Given the description of an element on the screen output the (x, y) to click on. 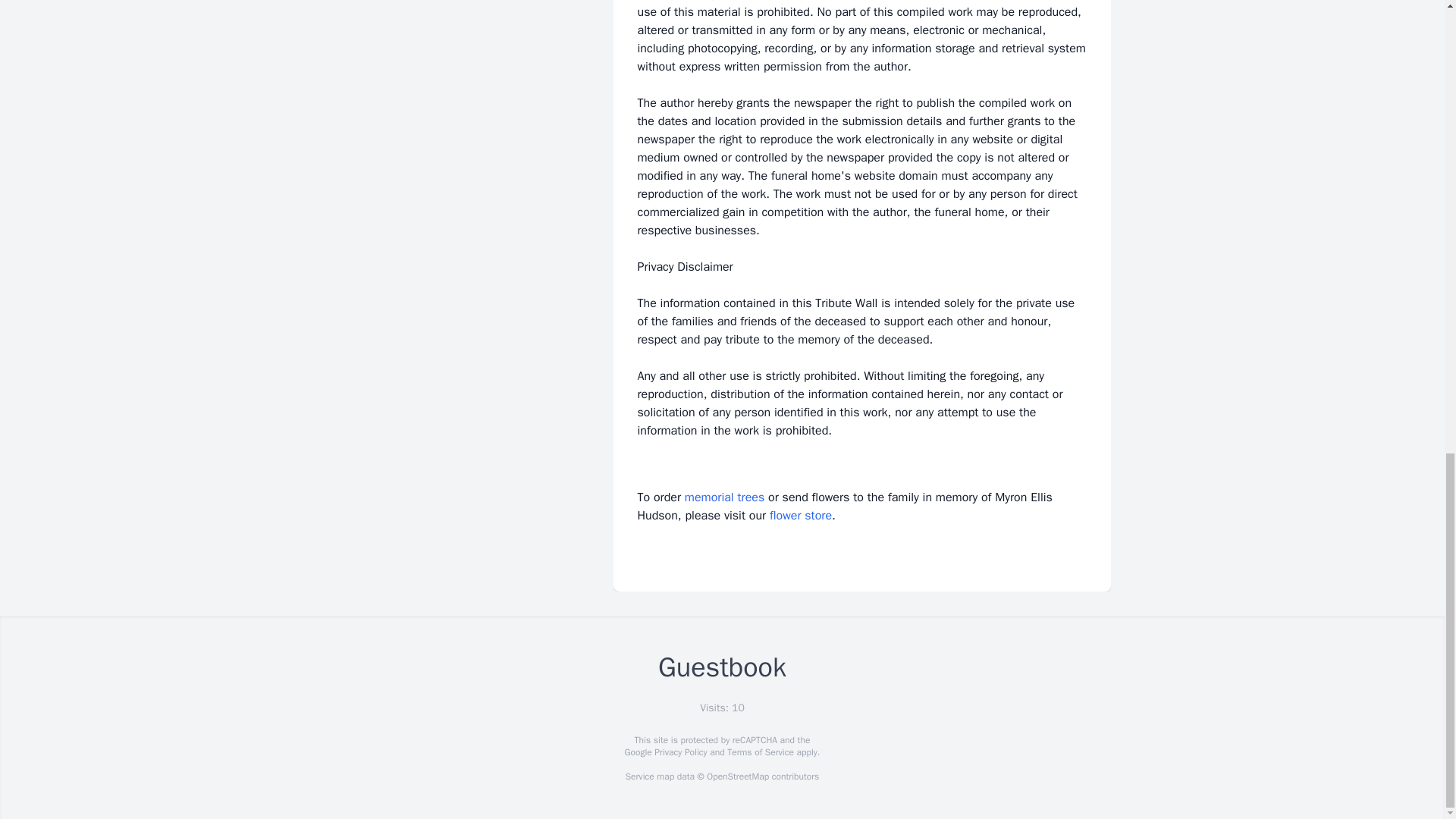
flower store (800, 515)
memorial trees (724, 497)
